Given the description of an element on the screen output the (x, y) to click on. 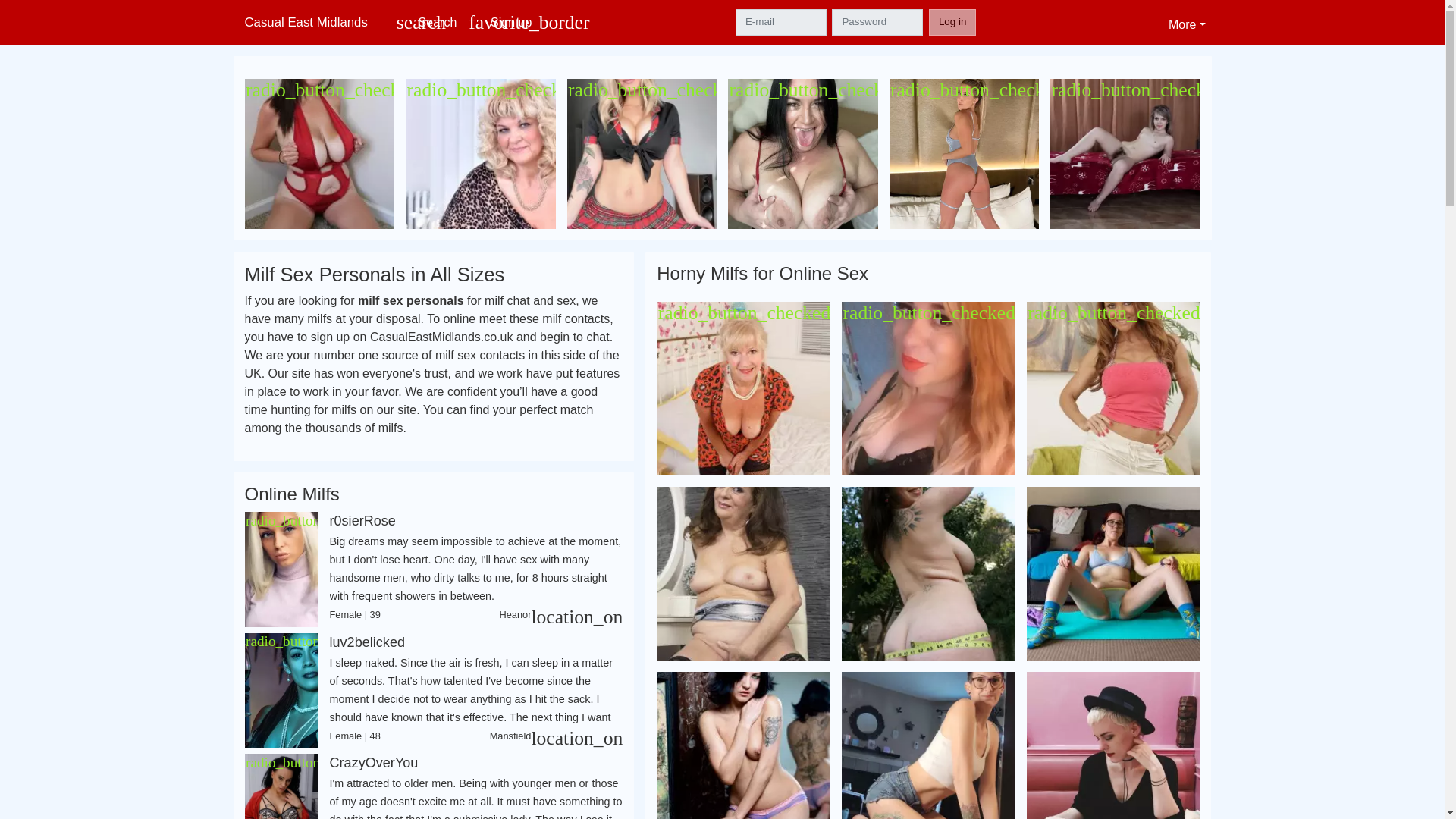
More (1186, 22)
Casual East Midlands (311, 21)
Log in (952, 22)
